Given the description of an element on the screen output the (x, y) to click on. 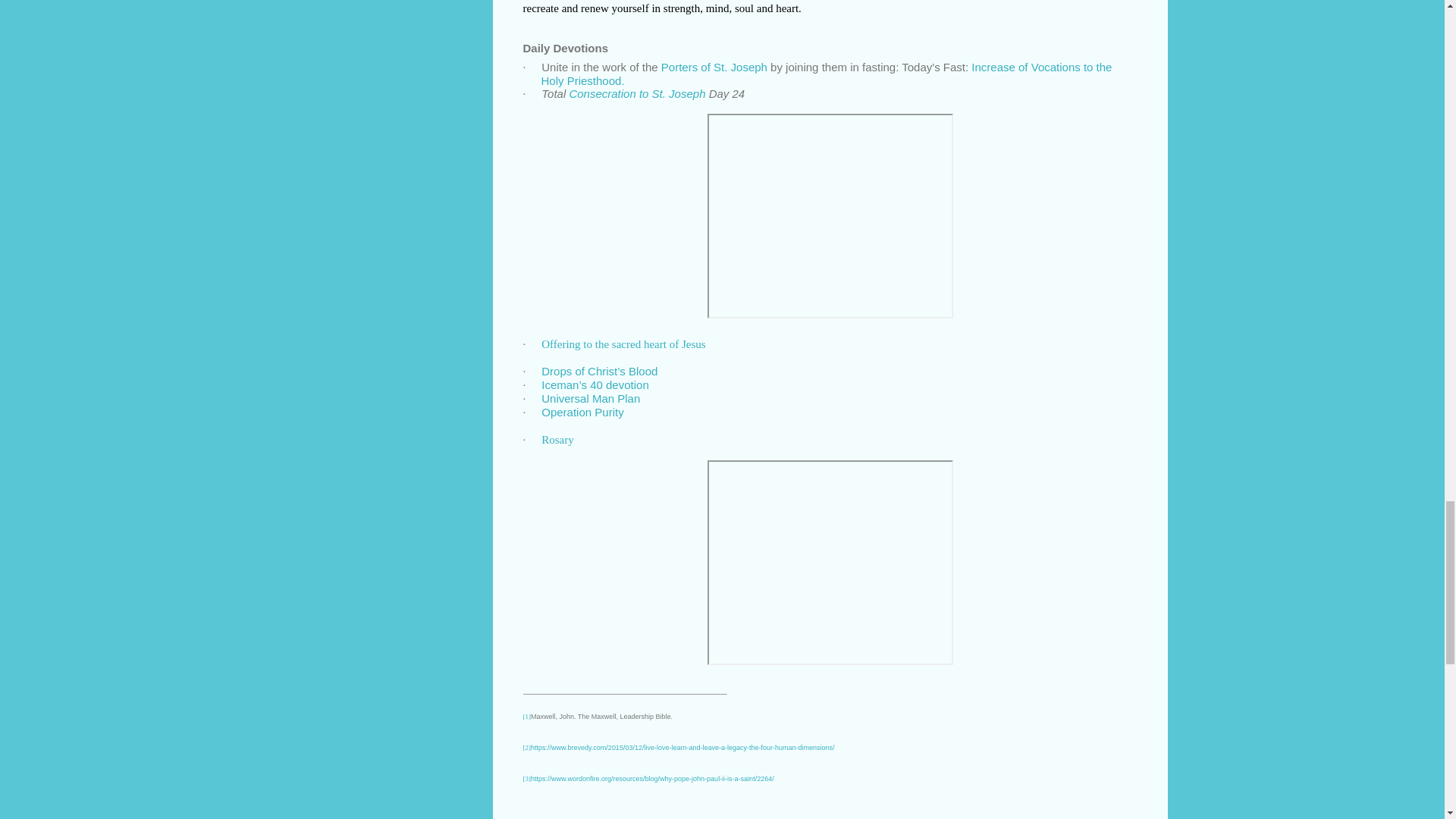
Operation Purity (582, 410)
Offering to the sacred heart of Jesus (622, 342)
Consecration to St. Joseph (636, 92)
Increase of Vocations to the Holy Priesthood. (826, 73)
Porters of St. Joseph (714, 66)
Universal Man Plan (590, 397)
Rosary (557, 438)
